Given the description of an element on the screen output the (x, y) to click on. 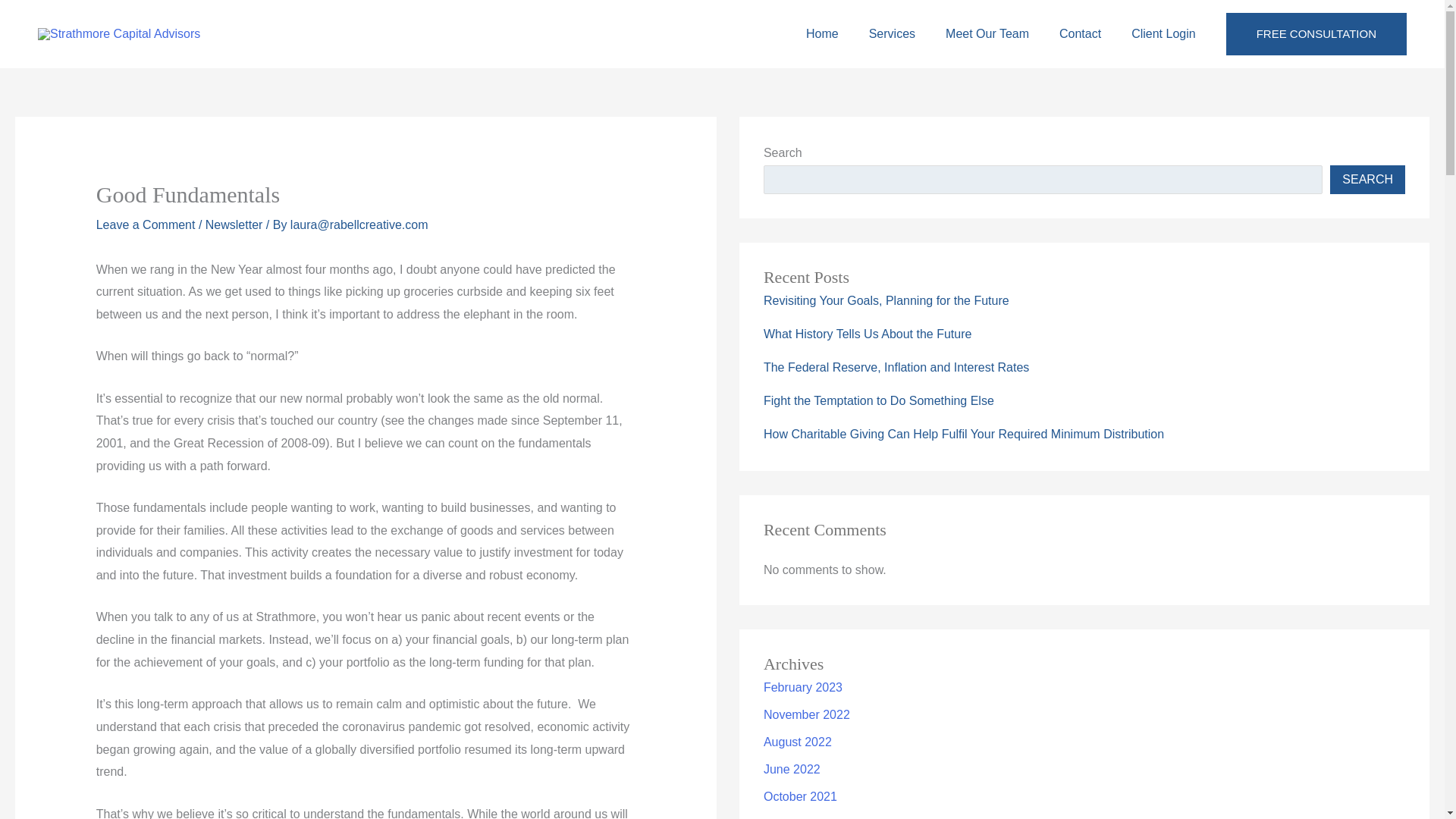
Newsletter (234, 224)
August 2022 (796, 741)
February 2023 (802, 686)
Client Login (1163, 33)
Contact (1079, 33)
Leave a Comment (145, 224)
Revisiting Your Goals, Planning for the Future (885, 300)
June 2022 (791, 768)
October 2021 (799, 796)
Meet Our Team (986, 33)
November 2022 (806, 714)
What History Tells Us About the Future (866, 333)
SEARCH (1367, 179)
Fight the Temptation to Do Something Else (878, 400)
